Given the description of an element on the screen output the (x, y) to click on. 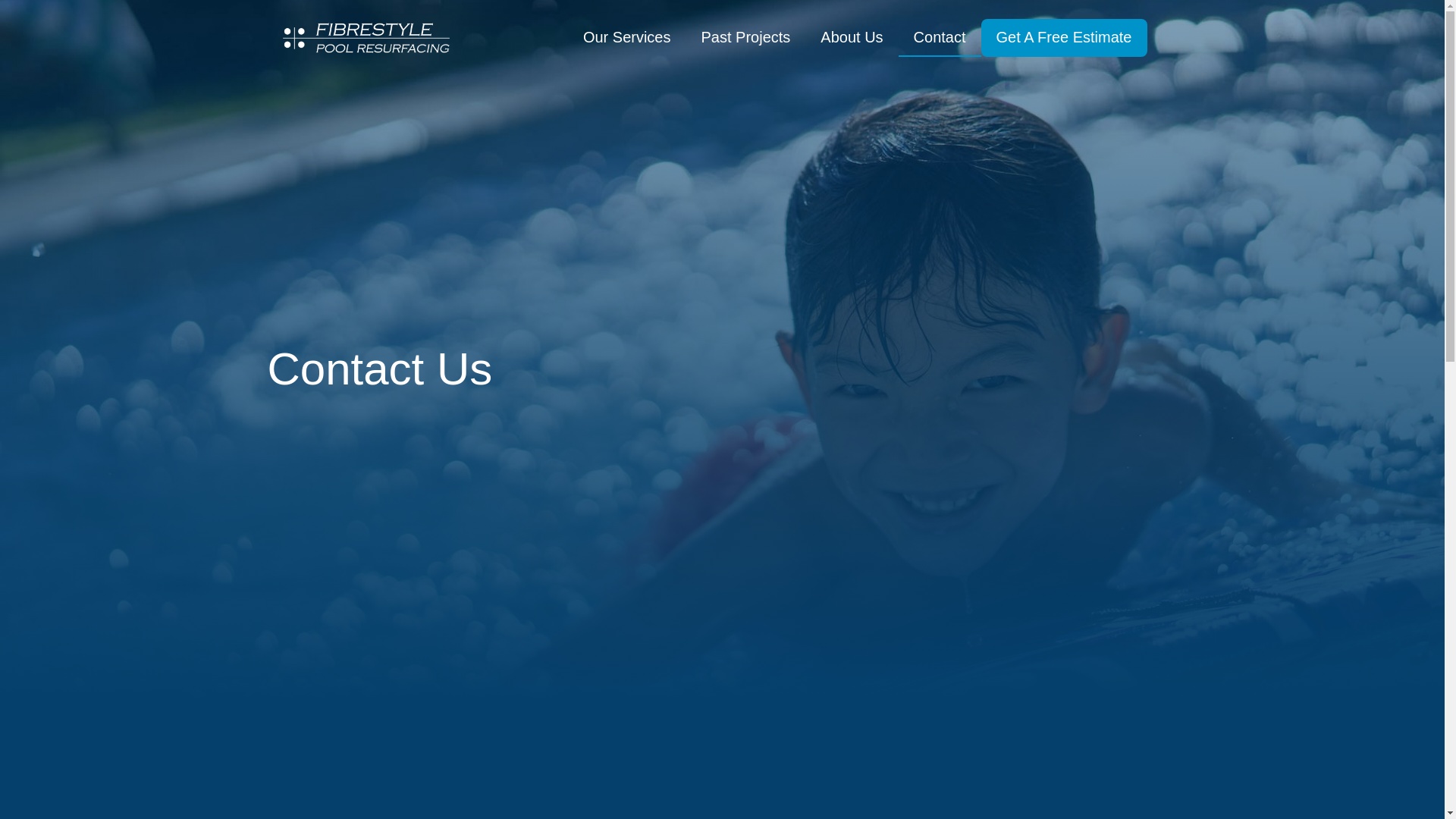
Past Projects Element type: text (745, 37)
About Us Element type: text (851, 37)
Contact Element type: text (939, 37)
Get A Free Estimate Element type: text (1064, 37)
